Given the description of an element on the screen output the (x, y) to click on. 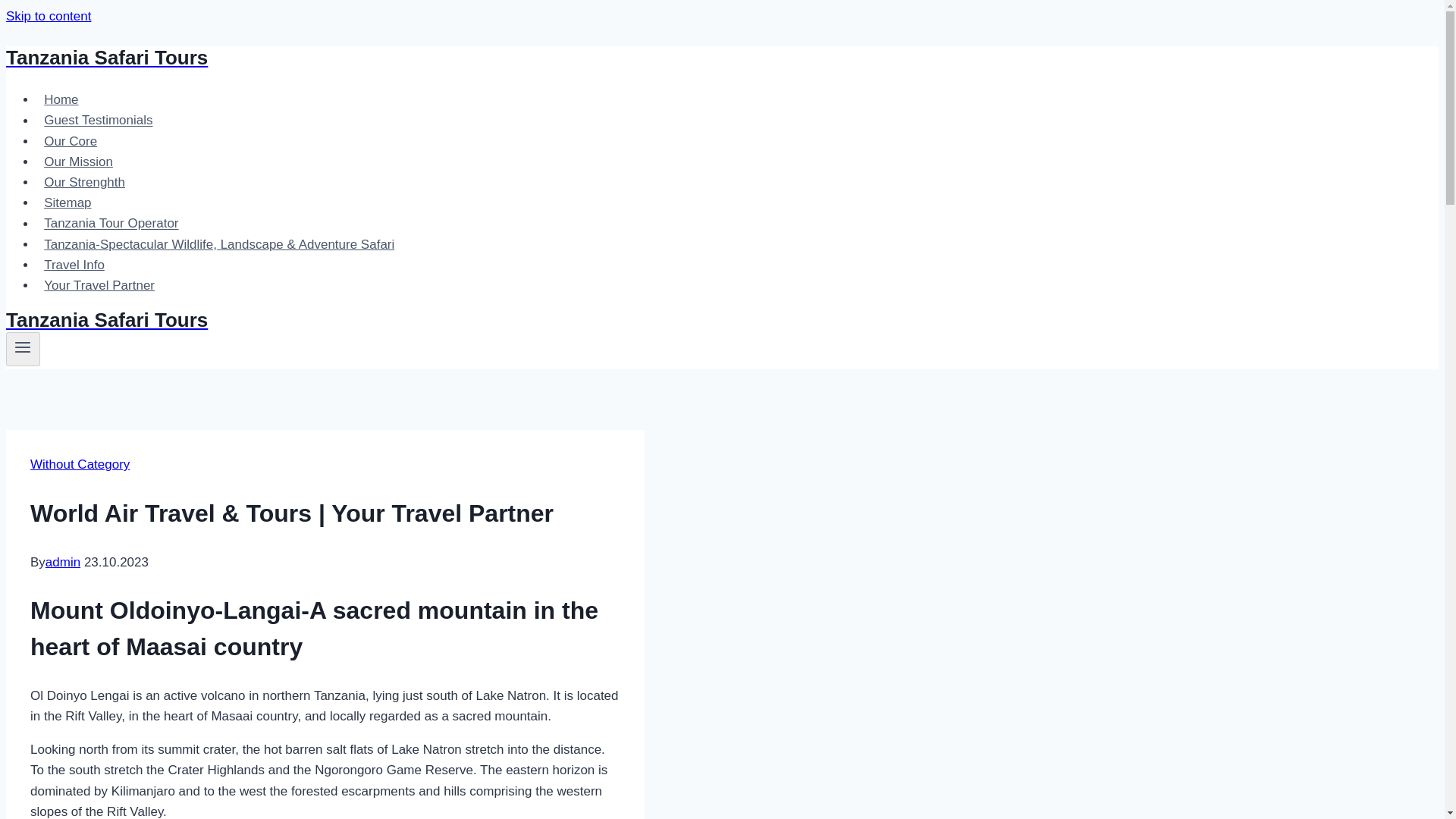
Our Strenghth (84, 182)
Skip to content (47, 16)
admin (62, 562)
Your Travel Partner (98, 285)
Tanzania Safari Tours (494, 57)
Tanzania Safari Tours (494, 320)
Toggle Menu (22, 347)
Guest Testimonials (98, 120)
Tanzania Tour Operator (111, 223)
Our Core (70, 141)
Home (60, 99)
Travel Info (74, 265)
Toggle Menu (22, 348)
Sitemap (67, 202)
Without Category (79, 464)
